Given the description of an element on the screen output the (x, y) to click on. 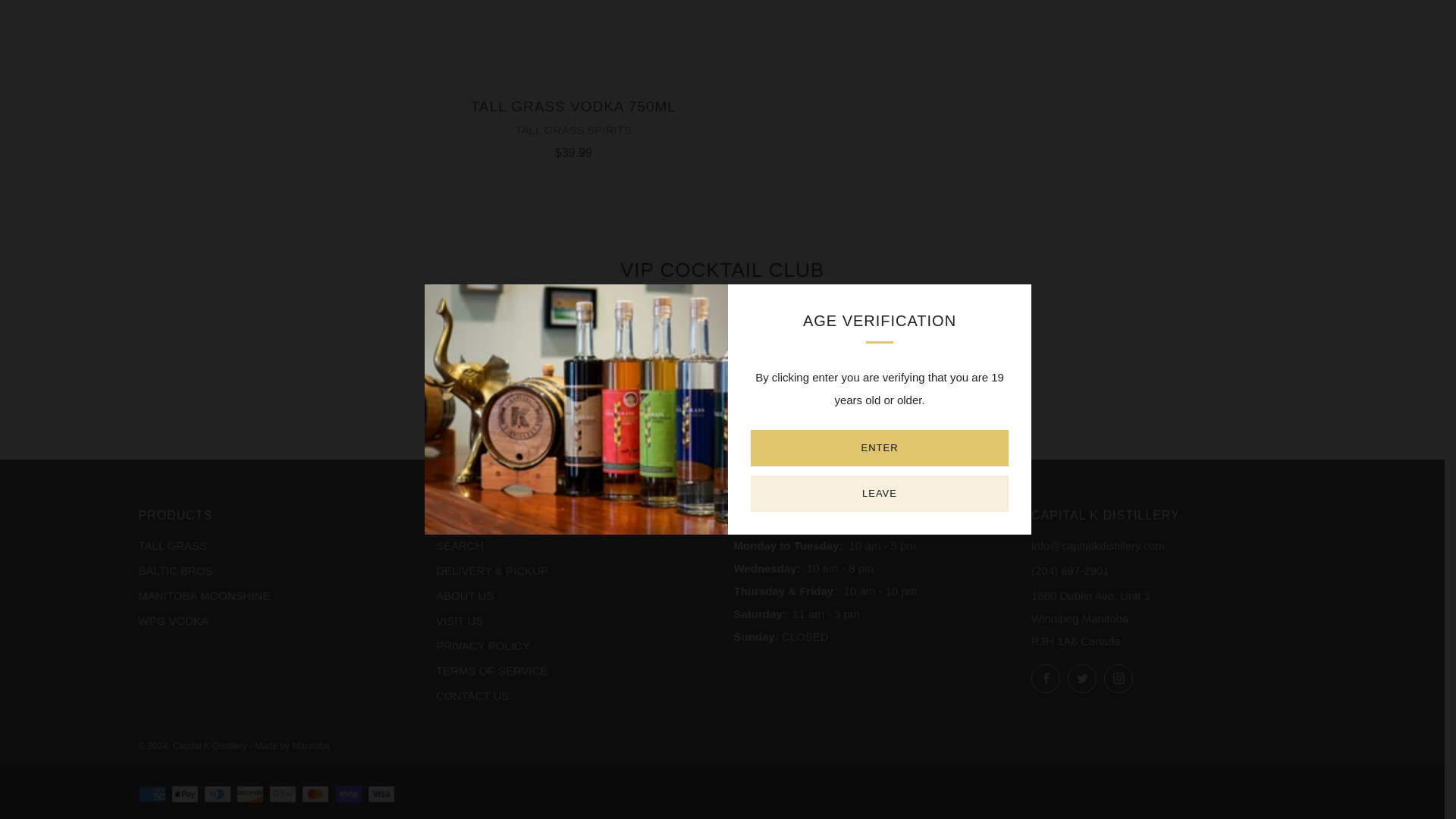
TALL GRASS Vodka 750mL (572, 42)
TALL GRASS Vodka 750mL (572, 126)
LEAVE (880, 7)
